Given the description of an element on the screen output the (x, y) to click on. 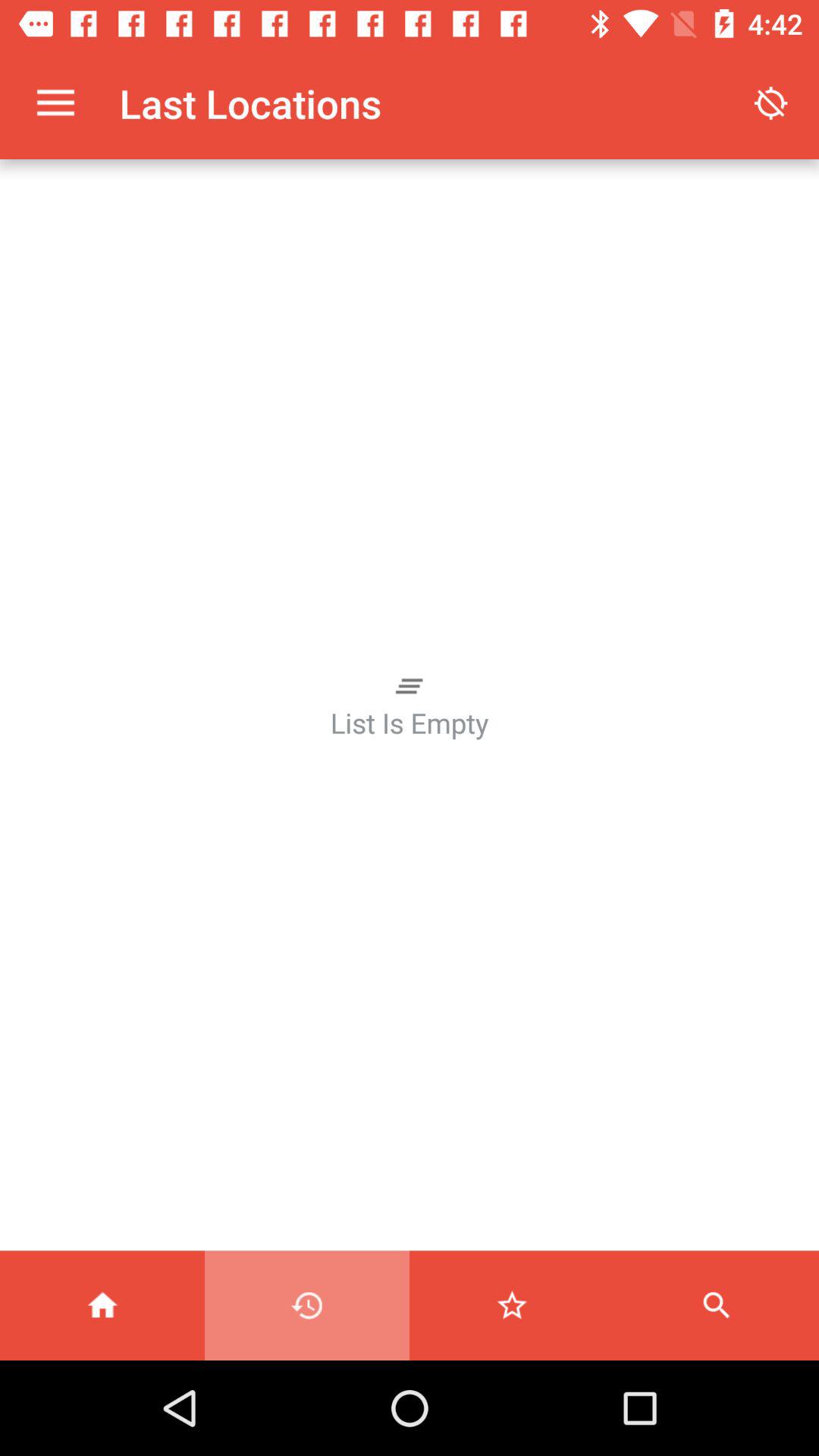
click on the option which is right side to the timer (511, 1304)
